Given the description of an element on the screen output the (x, y) to click on. 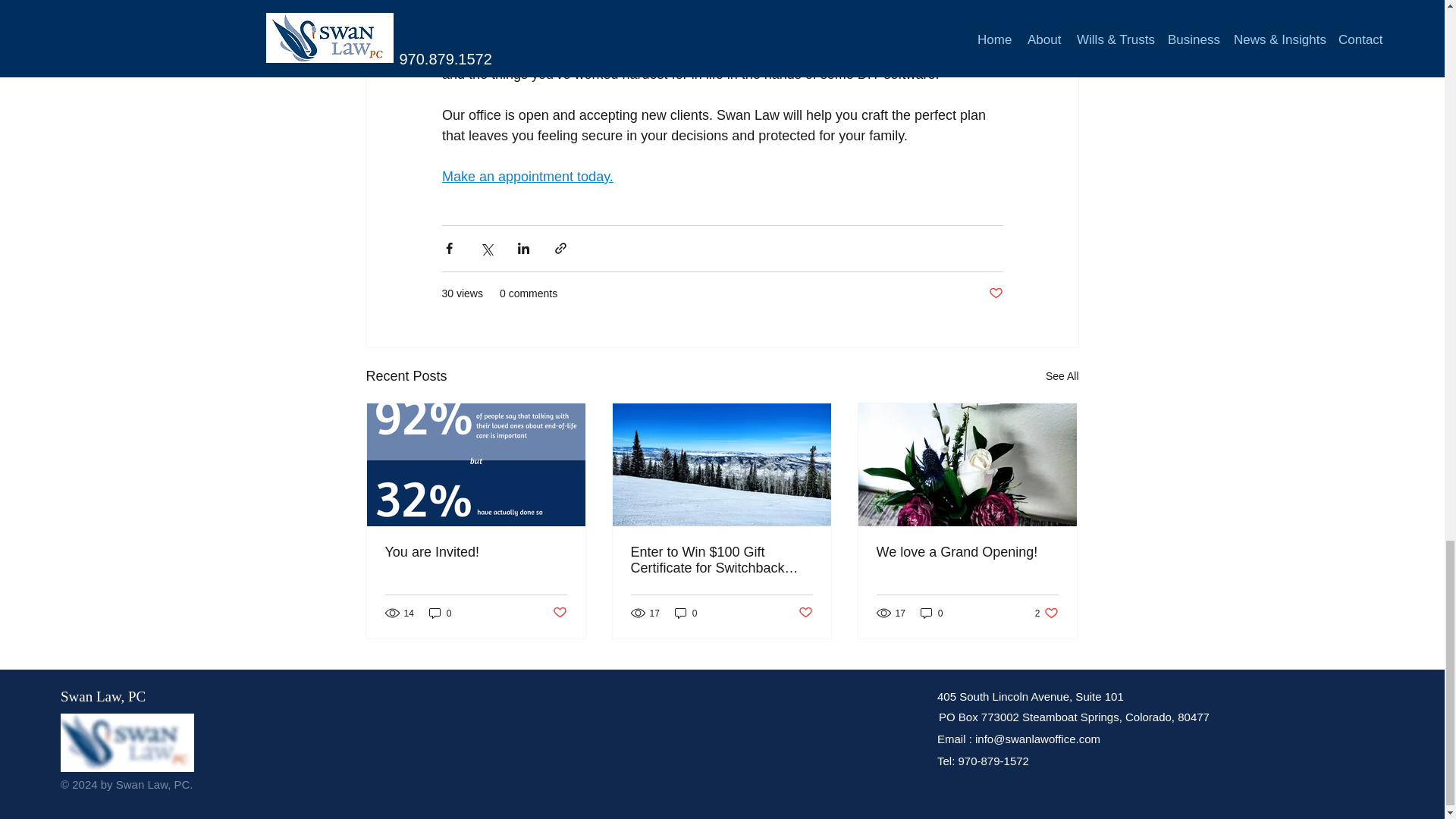
Post not marked as liked (995, 293)
0 (440, 612)
We love a Grand Opening! (967, 552)
0 (685, 612)
See All (1061, 376)
You are Invited! (476, 552)
Post not marked as liked (558, 612)
Make an appointment today. (526, 176)
Post not marked as liked (804, 612)
Swan Law, PC (103, 696)
